Given the description of an element on the screen output the (x, y) to click on. 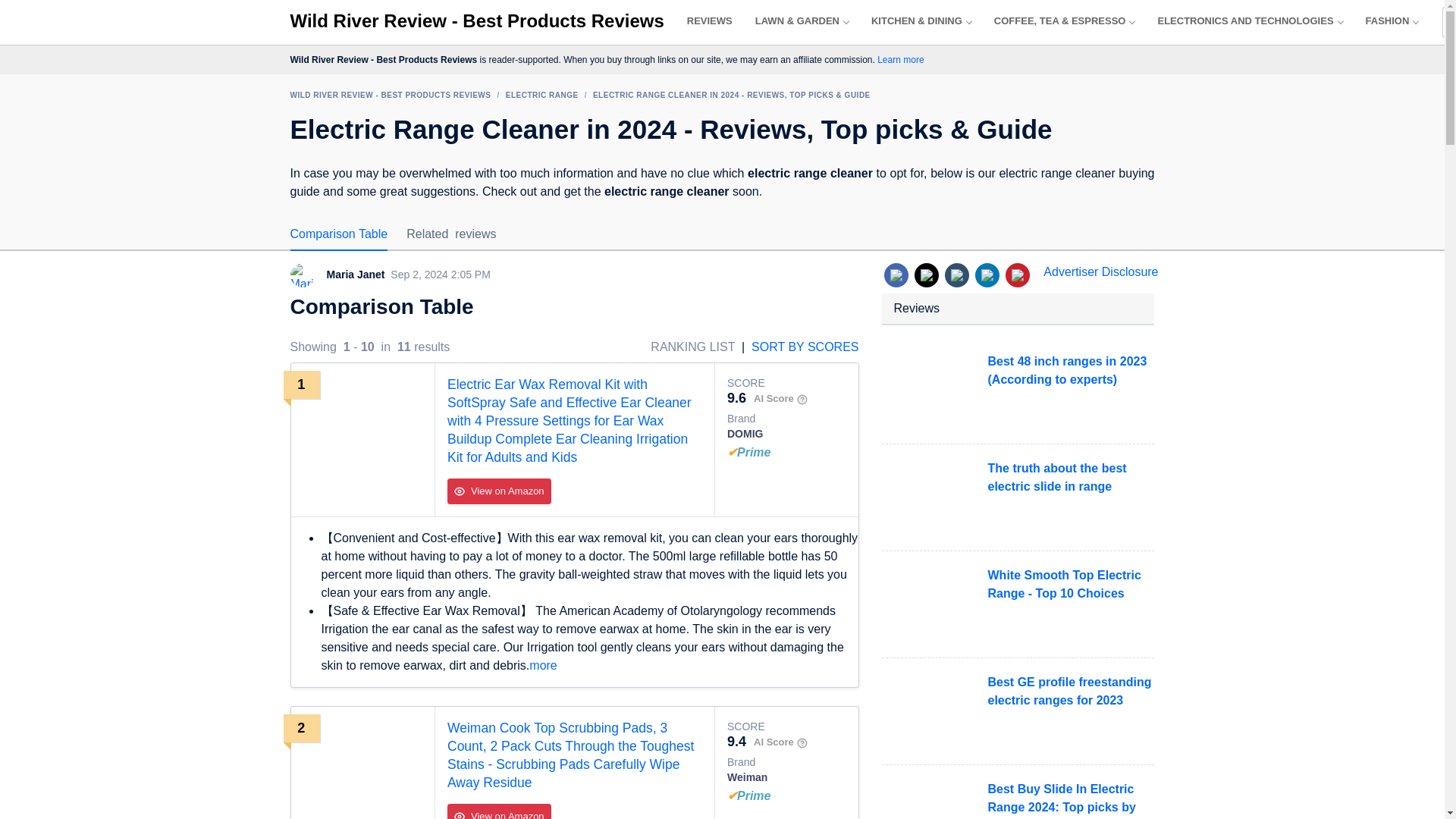
Wild River Review - Best Products Reviews (476, 21)
Related  reviews (451, 234)
REVIEWS (709, 20)
Comparison Table (338, 234)
Reviews (709, 20)
ELECTRONICS AND TECHNOLOGIES (1249, 20)
